Given the description of an element on the screen output the (x, y) to click on. 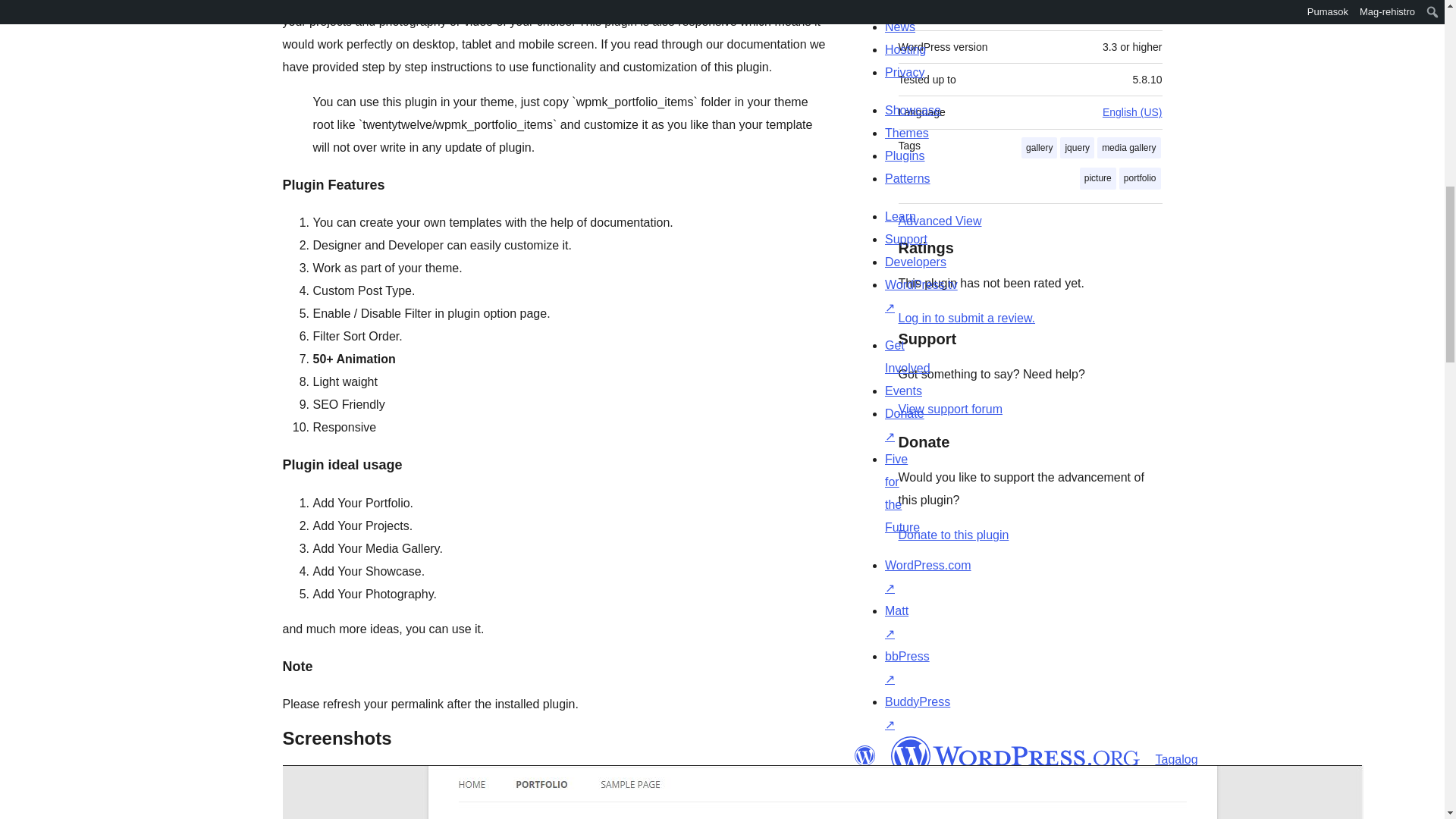
WordPress.org (1014, 755)
WordPress.org (864, 755)
Log in to WordPress.org (966, 318)
